Given the description of an element on the screen output the (x, y) to click on. 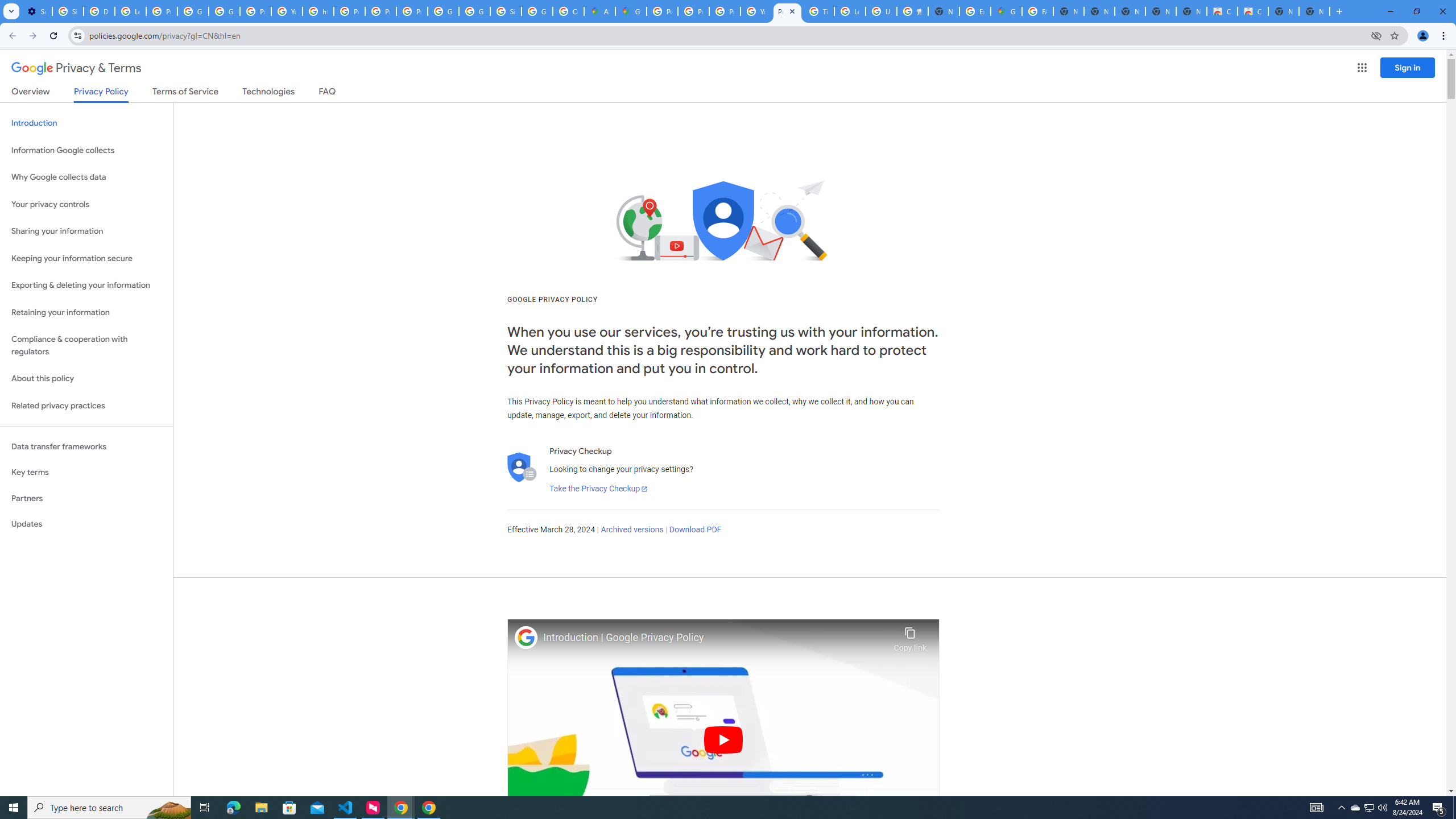
Policy Accountability and Transparency - Transparency Center (662, 11)
Classic Blue - Chrome Web Store (1252, 11)
Related privacy practices (86, 405)
